Given the description of an element on the screen output the (x, y) to click on. 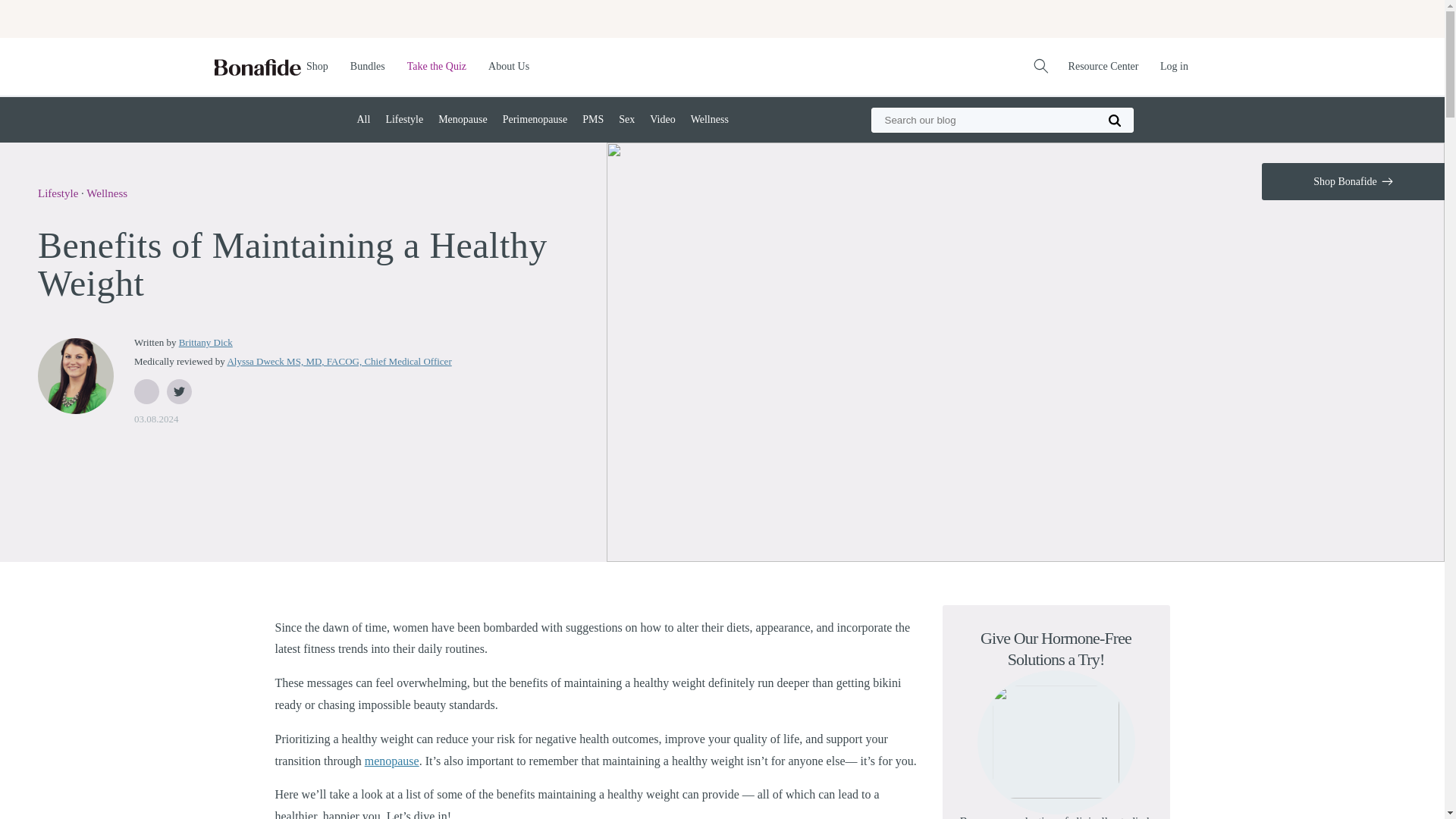
Take the Quiz (442, 66)
About Us (513, 66)
Skip to content (45, 17)
Resource Center (1109, 66)
